Given the description of an element on the screen output the (x, y) to click on. 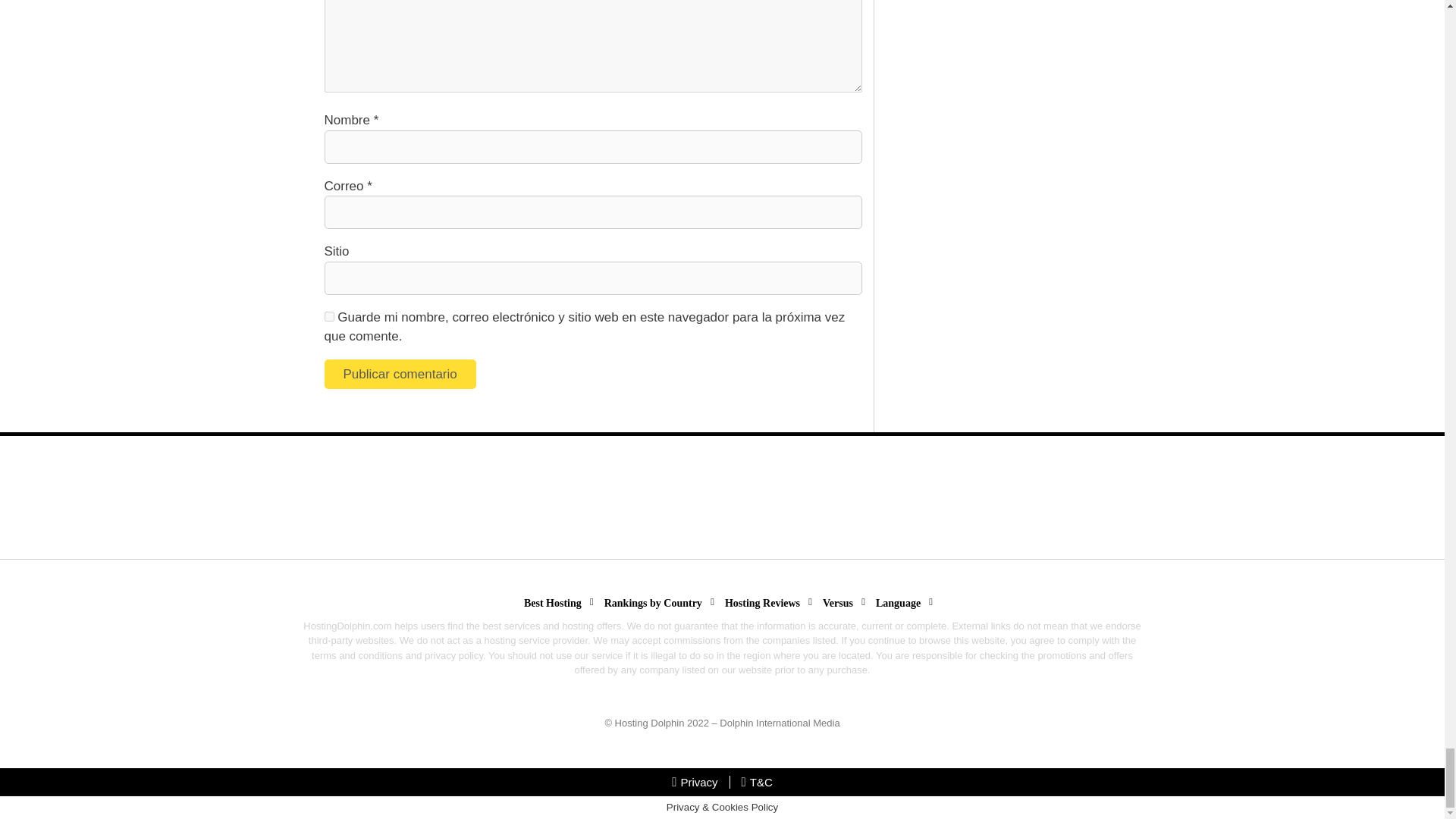
yes (329, 316)
Publicar comentario (400, 374)
